Given the description of an element on the screen output the (x, y) to click on. 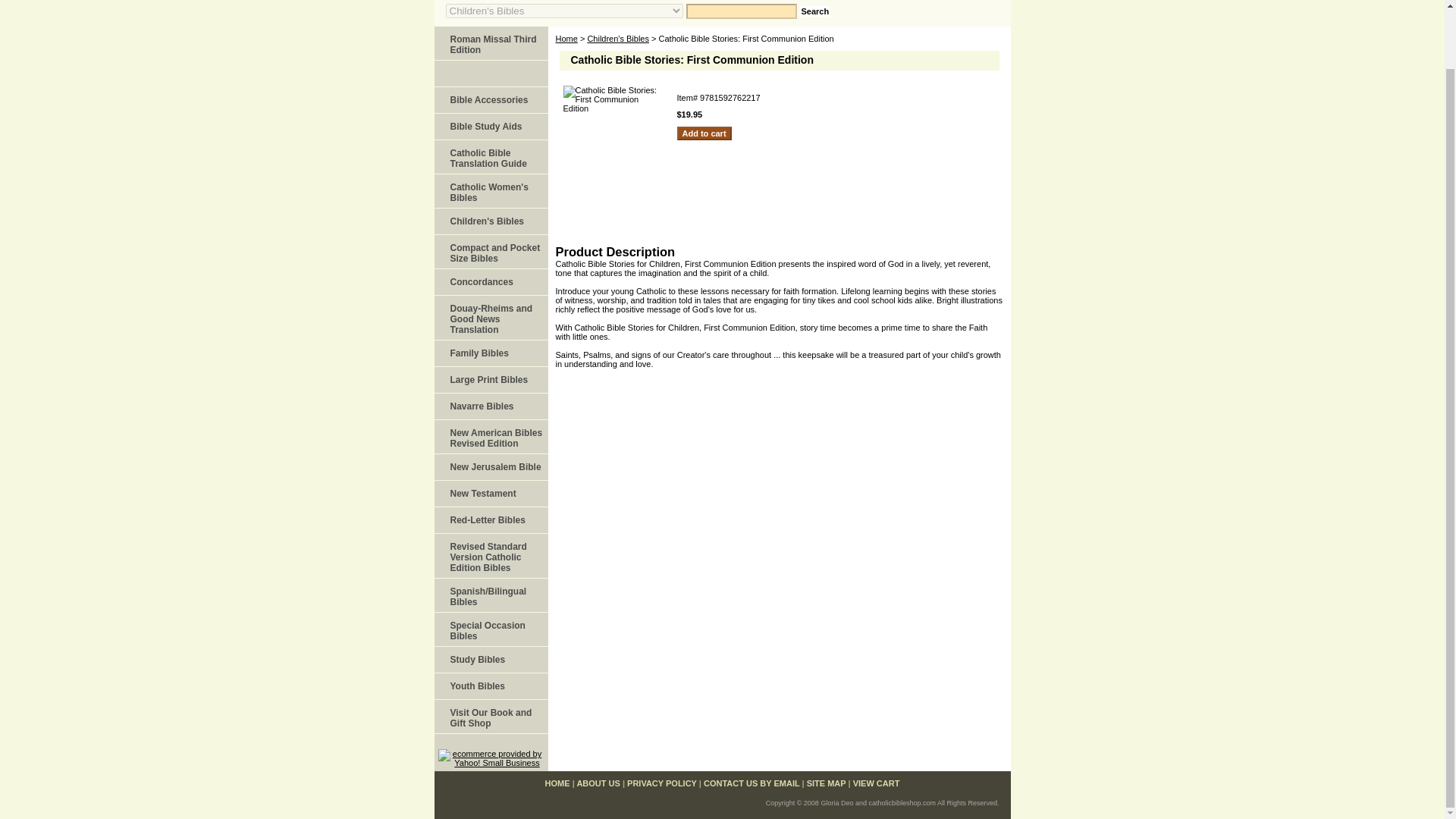
Red-Letter Bibles (490, 519)
Bible Accessories (490, 99)
Search (814, 10)
New Jerusalem Bible (490, 467)
Douay-Rheims and Good News Translation (490, 317)
Study Bibles (490, 660)
Add to cart (703, 133)
Visit Our Book and Gift Shop (490, 716)
Revised Standard Version Catholic Edition Bibles (490, 555)
HOME (557, 782)
Douay-Rheims and Good News Translation (490, 317)
New American Bibles Revised Edition  (490, 437)
Navarre Bibles (490, 406)
Bible Accessories (490, 99)
Special Occasion Bibles (490, 629)
